Given the description of an element on the screen output the (x, y) to click on. 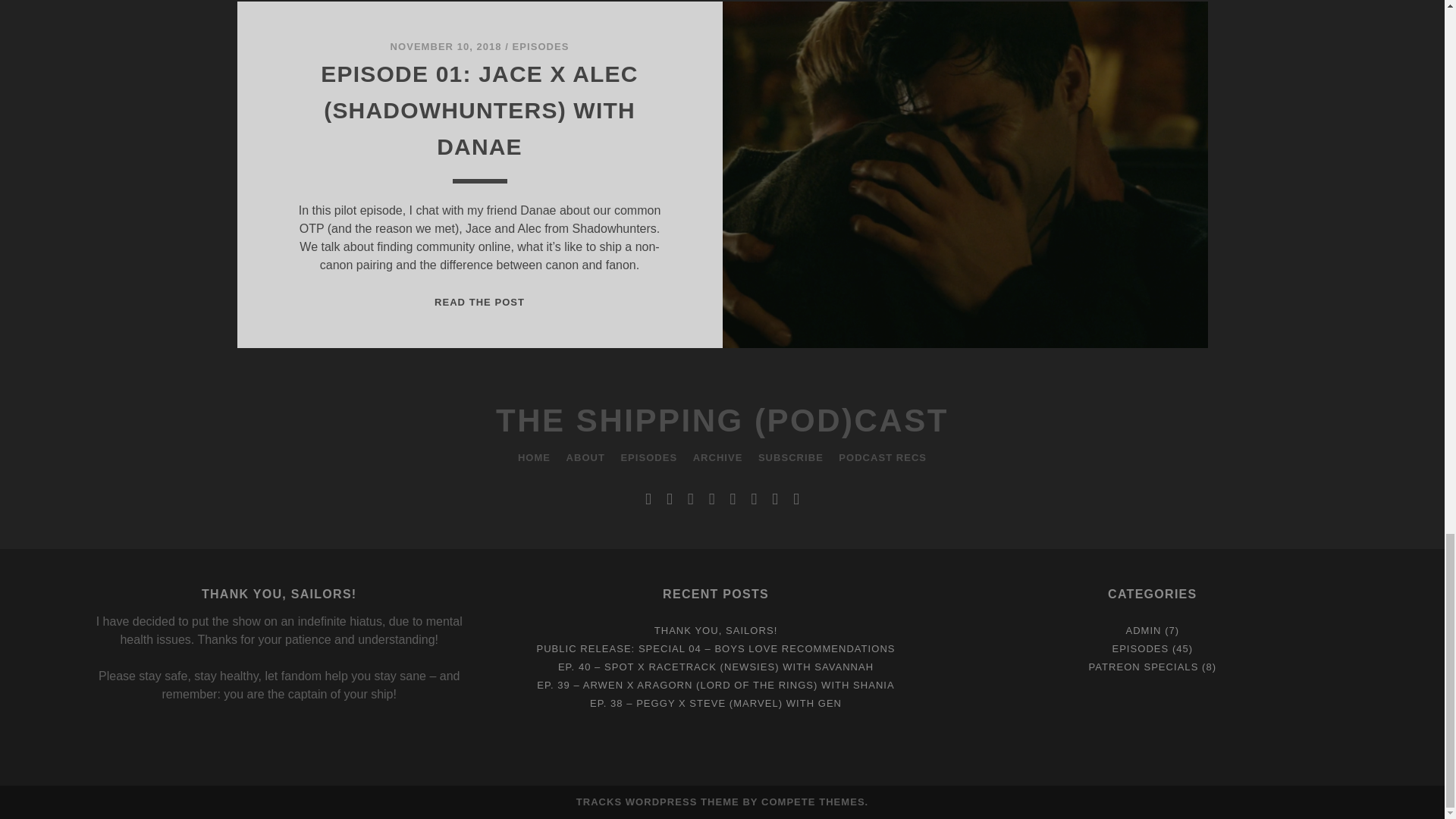
EPISODES (540, 46)
